Given the description of an element on the screen output the (x, y) to click on. 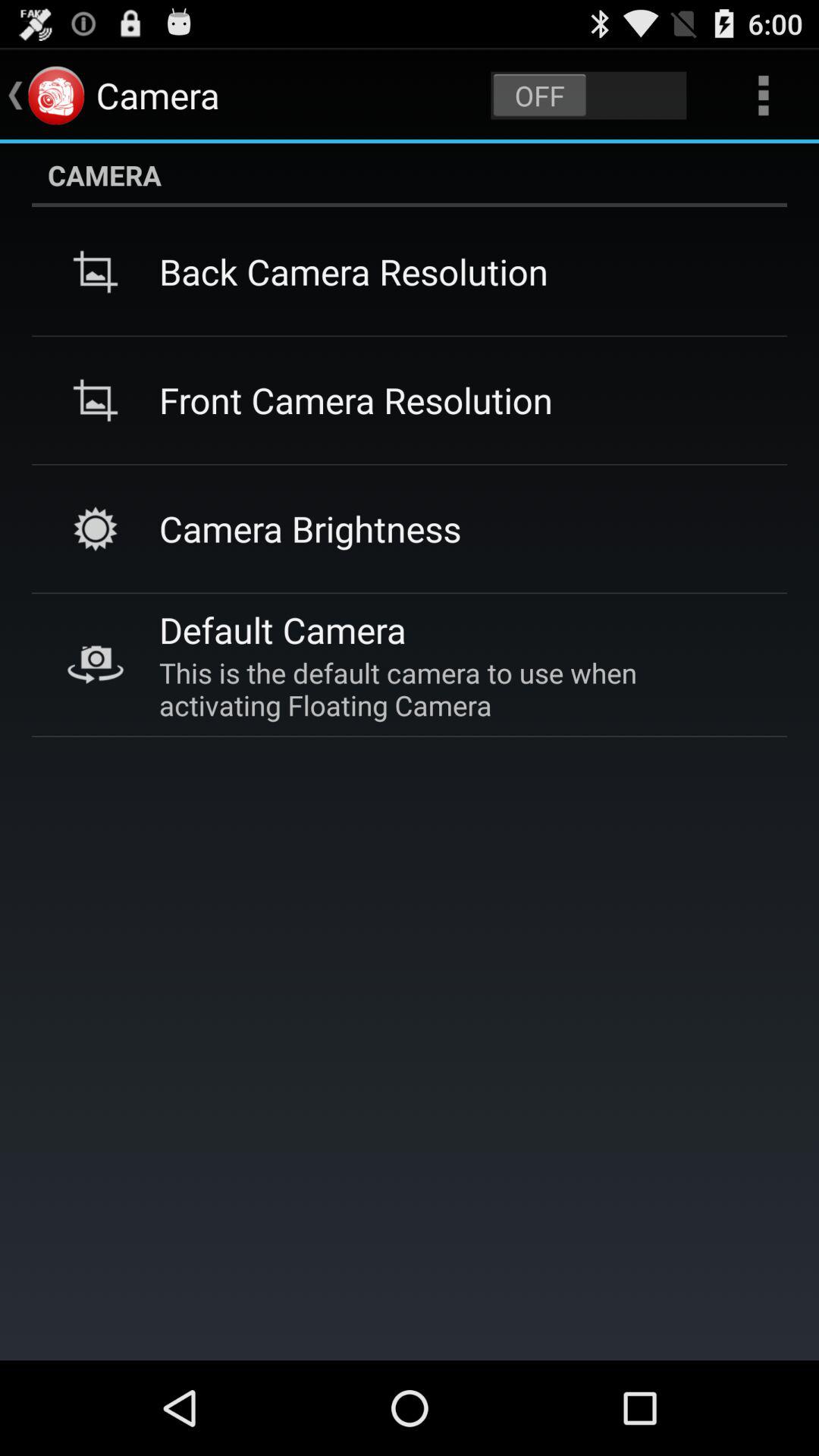
icon before default camera text (95, 665)
go to three dots on top right of page (763, 95)
click on the icon which is left to the back camera resolution (95, 272)
select the icon of front camera resolution which is one the left hand side (95, 400)
